Given the description of an element on the screen output the (x, y) to click on. 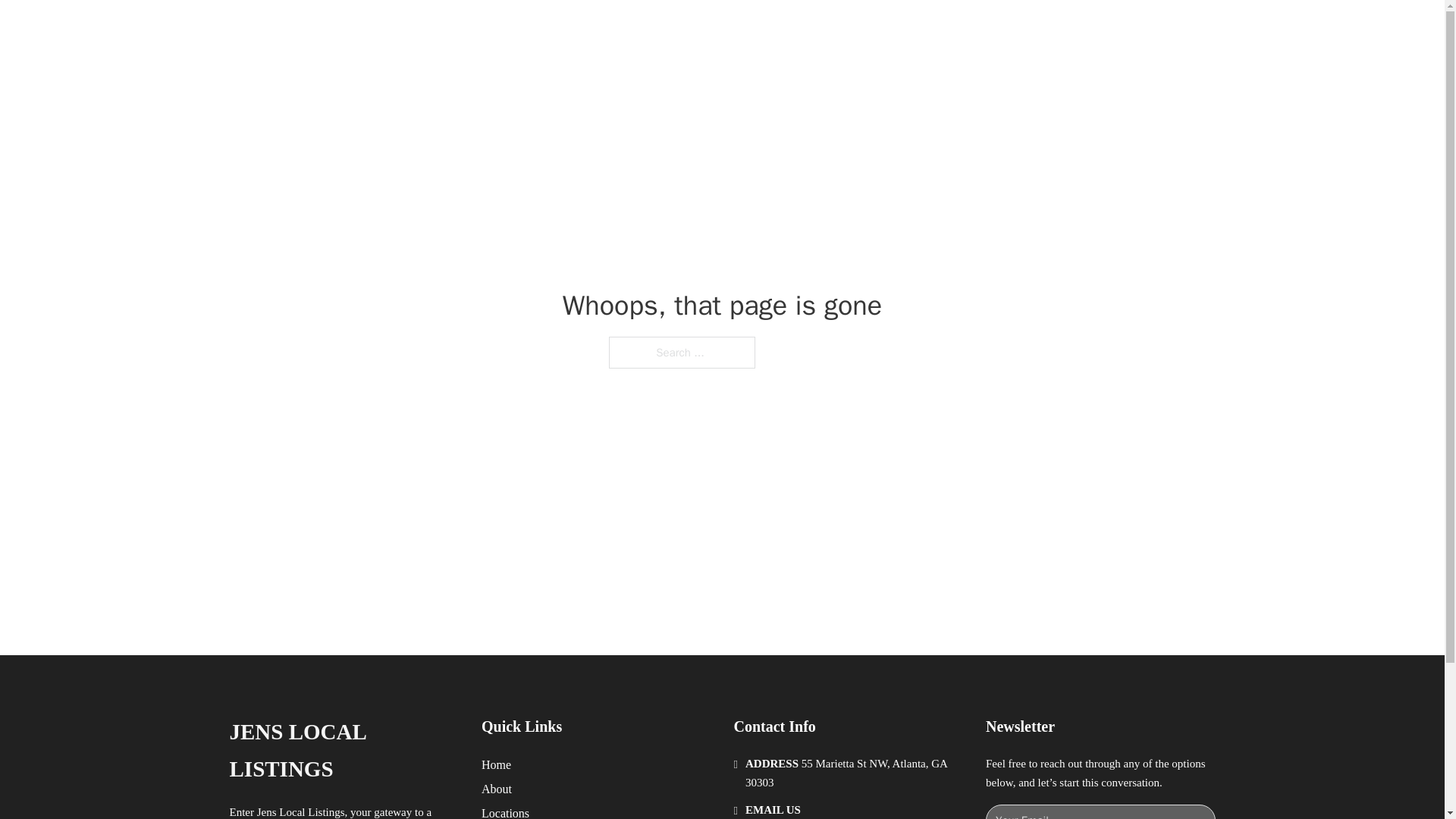
About (496, 788)
Locations (505, 811)
Home (496, 764)
JENS LOCAL LISTINGS (419, 28)
JENS LOCAL LISTINGS (343, 750)
